Given the description of an element on the screen output the (x, y) to click on. 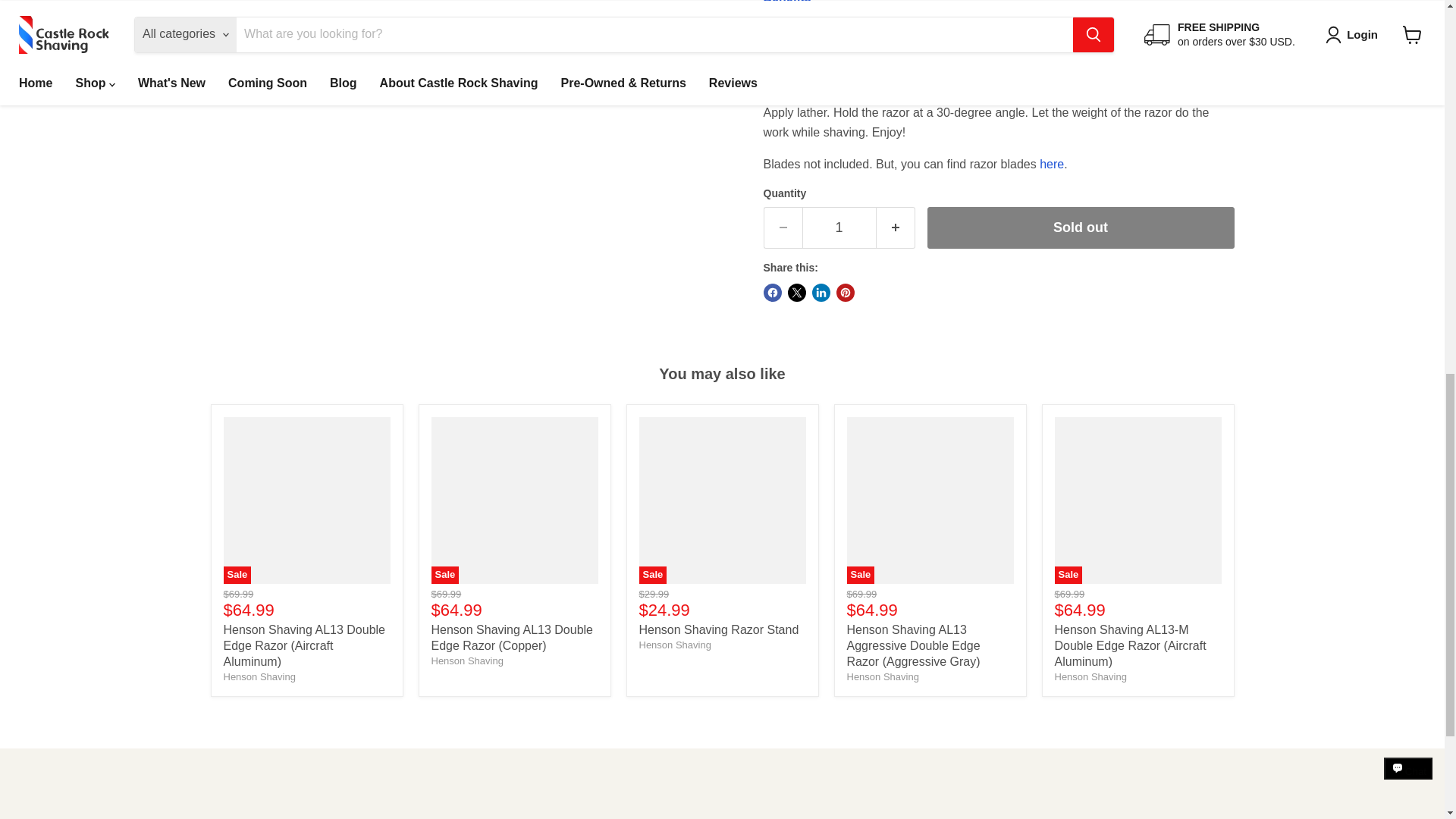
Henson Shaving (258, 676)
1 (839, 227)
Henson Shaving (881, 676)
Henson Shaving (466, 660)
Henson Shaving (1089, 676)
Henson Shaving (674, 644)
